Given the description of an element on the screen output the (x, y) to click on. 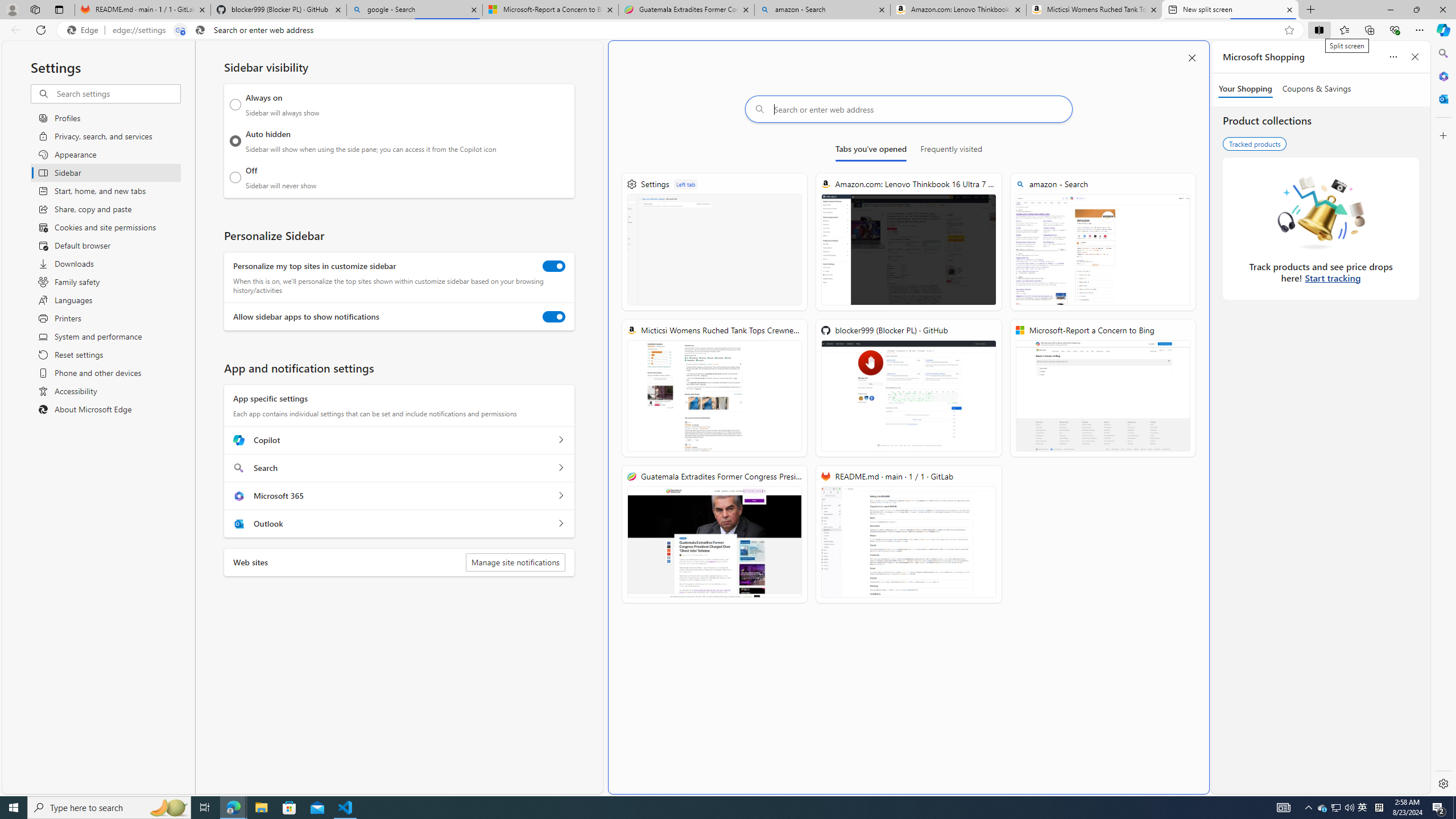
Collections (1369, 29)
google - Search (414, 9)
Close (1442, 9)
Allow sidebar apps to show notifications (553, 316)
Address and search bar (695, 29)
Search (1442, 53)
Settings and more (Alt+F) (1419, 29)
Workspaces (34, 9)
Frequently visited (951, 151)
Personal Profile (12, 9)
Tab actions menu (58, 9)
Copilot (560, 439)
Manage site notifications (514, 562)
